Given the description of an element on the screen output the (x, y) to click on. 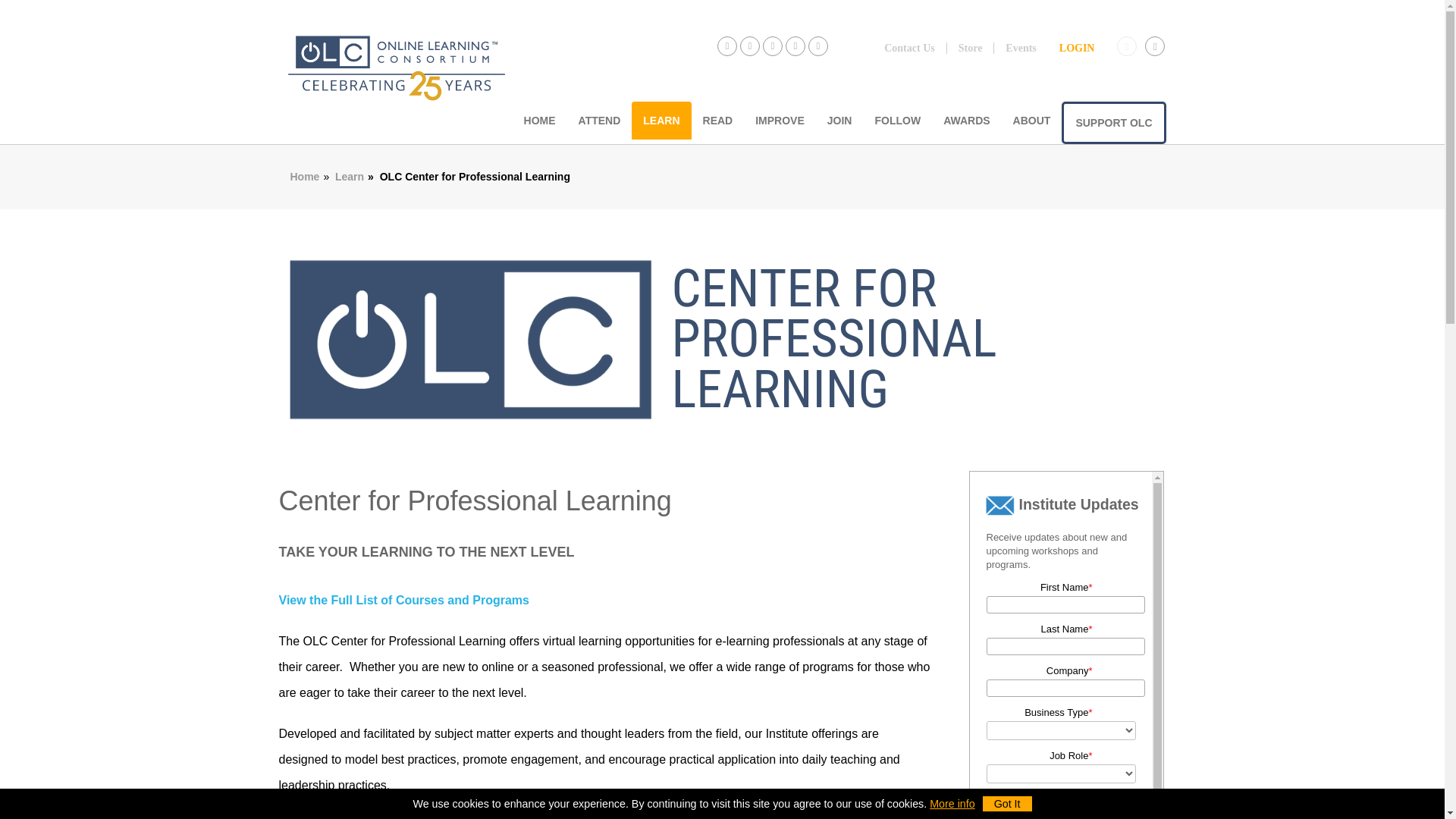
youtube (795, 46)
HOME (539, 120)
Store (970, 48)
facebook (726, 46)
READ (717, 120)
LEARN (660, 120)
twitter (749, 46)
Events (1019, 48)
linkedin (818, 46)
IMPROVE (779, 120)
LOGIN (1077, 48)
Learn (349, 175)
instagram (772, 46)
ATTEND (599, 120)
More info (952, 803)
